Given the description of an element on the screen output the (x, y) to click on. 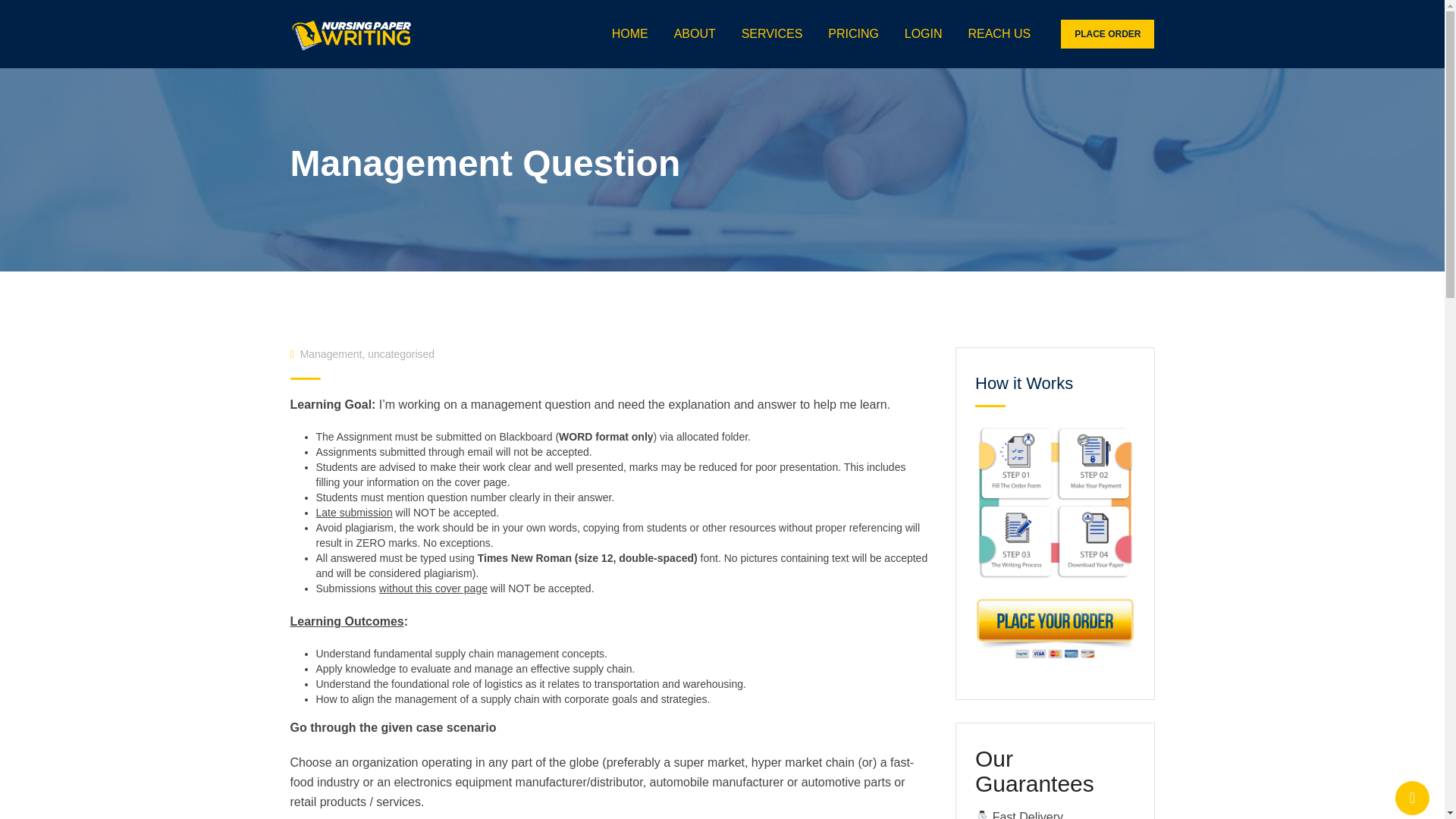
PRICING (852, 33)
uncategorised (400, 354)
ABOUT (694, 33)
REACH US (999, 33)
Management (330, 354)
SERVICES (771, 33)
PLACE ORDER (1107, 33)
LOGIN (923, 33)
HOME (629, 33)
